Given the description of an element on the screen output the (x, y) to click on. 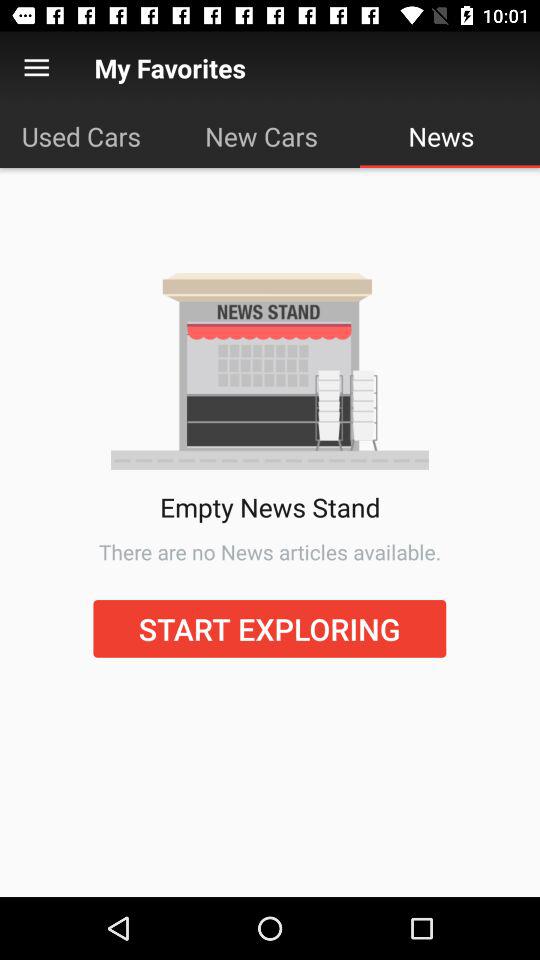
press the item above used cars (36, 68)
